Given the description of an element on the screen output the (x, y) to click on. 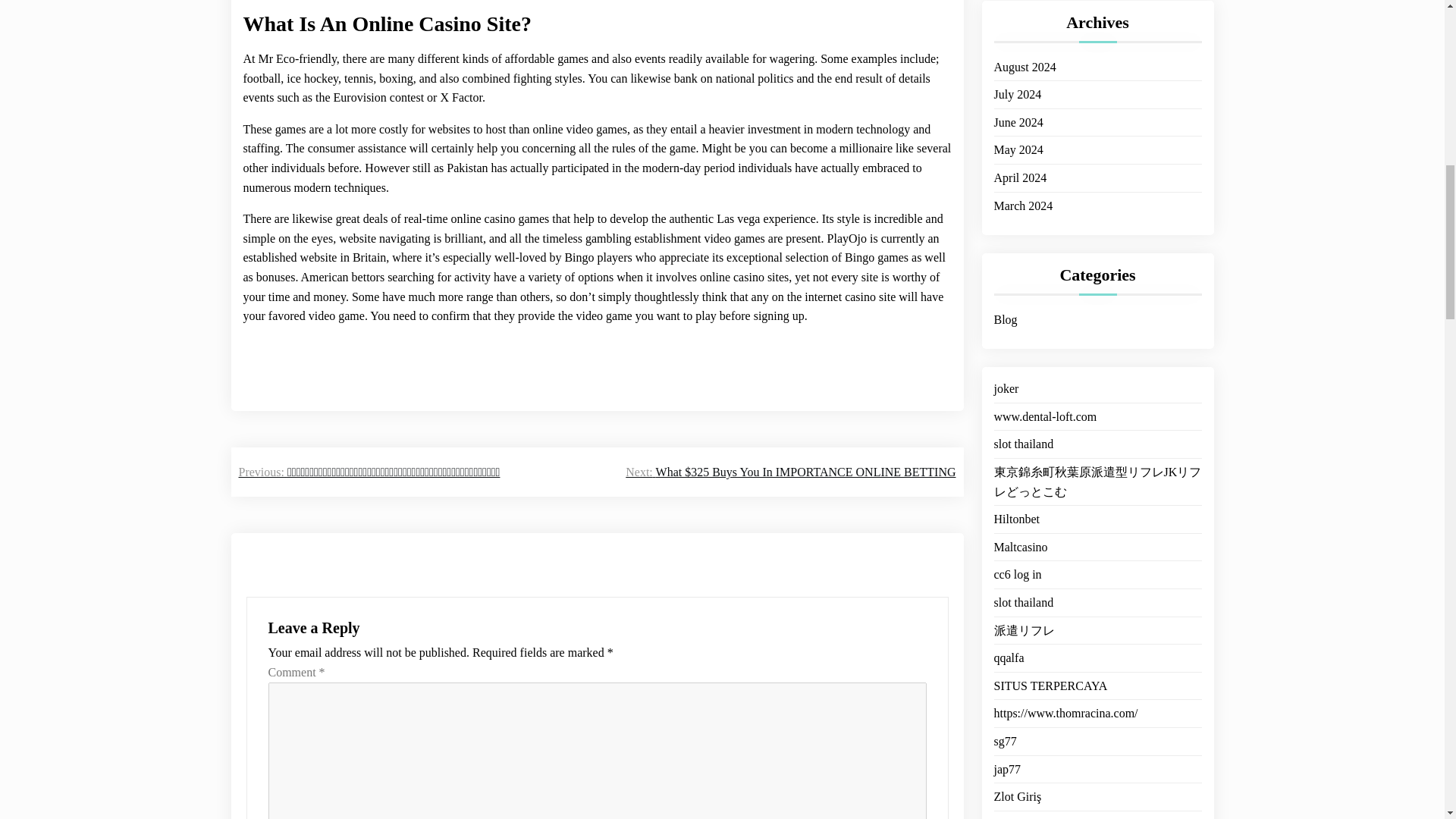
qqalfa (1007, 639)
June 2024 (1017, 104)
July 2024 (1016, 76)
slot thailand (1022, 425)
www.dental-loft.com (1044, 398)
Blog (1004, 301)
slot thailand (1022, 584)
Maltcasino (1019, 528)
August 2024 (1023, 48)
April 2024 (1019, 159)
